Given the description of an element on the screen output the (x, y) to click on. 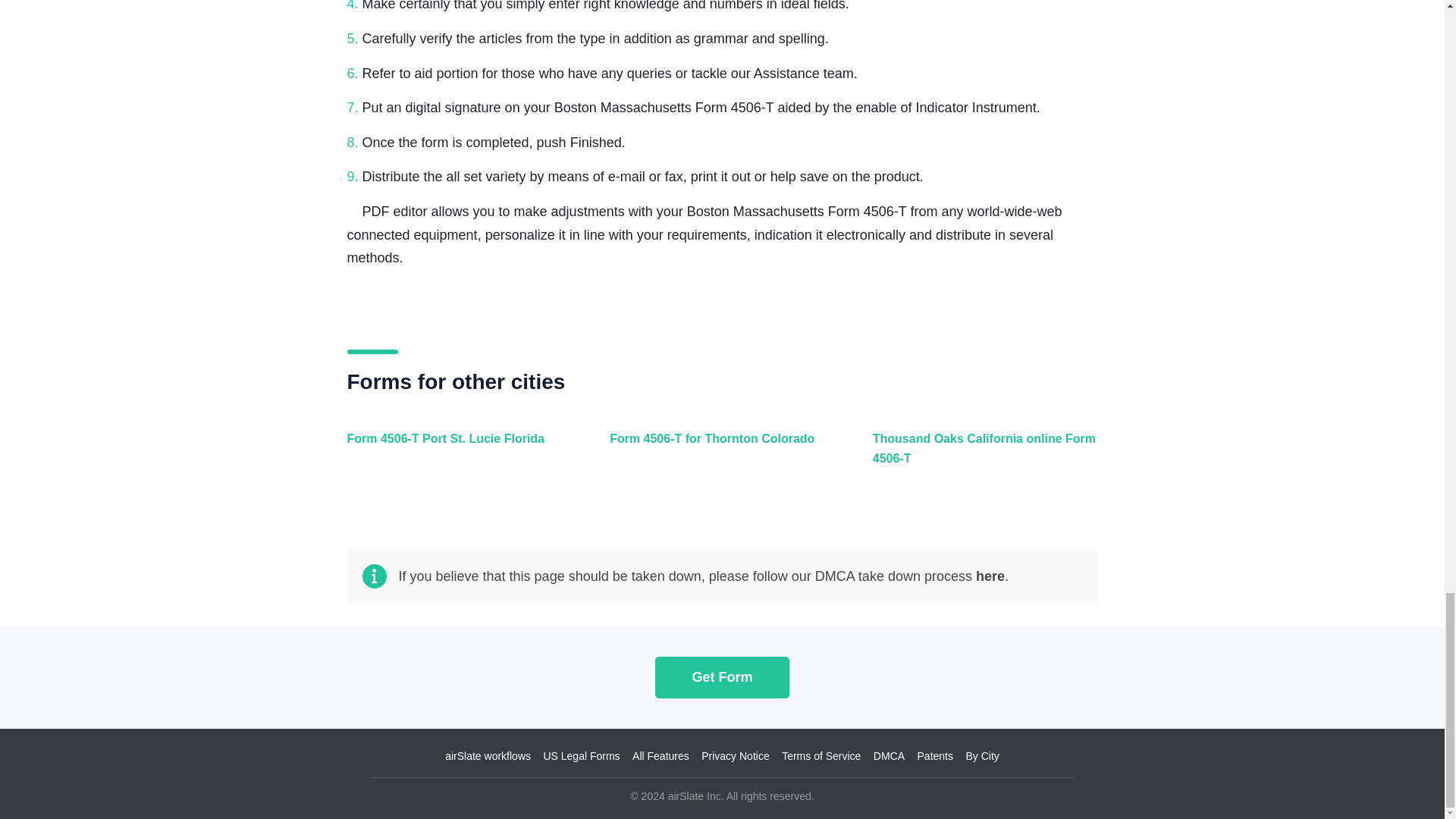
Get Form (722, 676)
All Features (659, 756)
here (989, 575)
airSlate workflows (488, 756)
DMCA (888, 756)
Patents (935, 756)
Form 4506-T for Thornton Colorado (718, 456)
Thousand Oaks California online Form 4506-T (981, 456)
Privacy Notice (734, 756)
Form 4506-T Port St. Lucie Florida (456, 456)
